Given the description of an element on the screen output the (x, y) to click on. 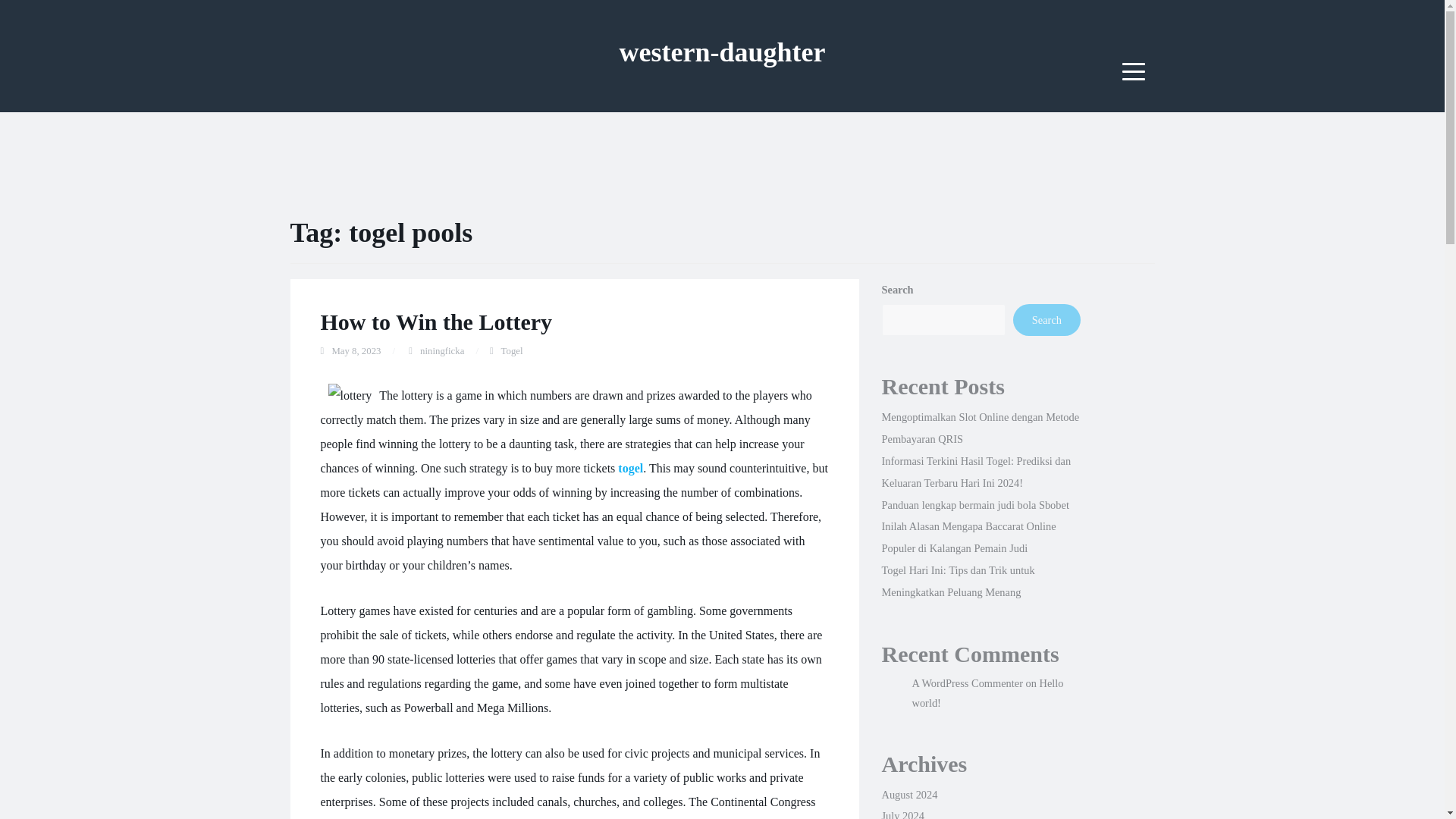
niningficka (442, 350)
western-daughter (721, 51)
Menu (1133, 71)
May 8, 2023 (355, 350)
Togel (511, 350)
togel (630, 468)
How to Win the Lottery (435, 321)
